Given the description of an element on the screen output the (x, y) to click on. 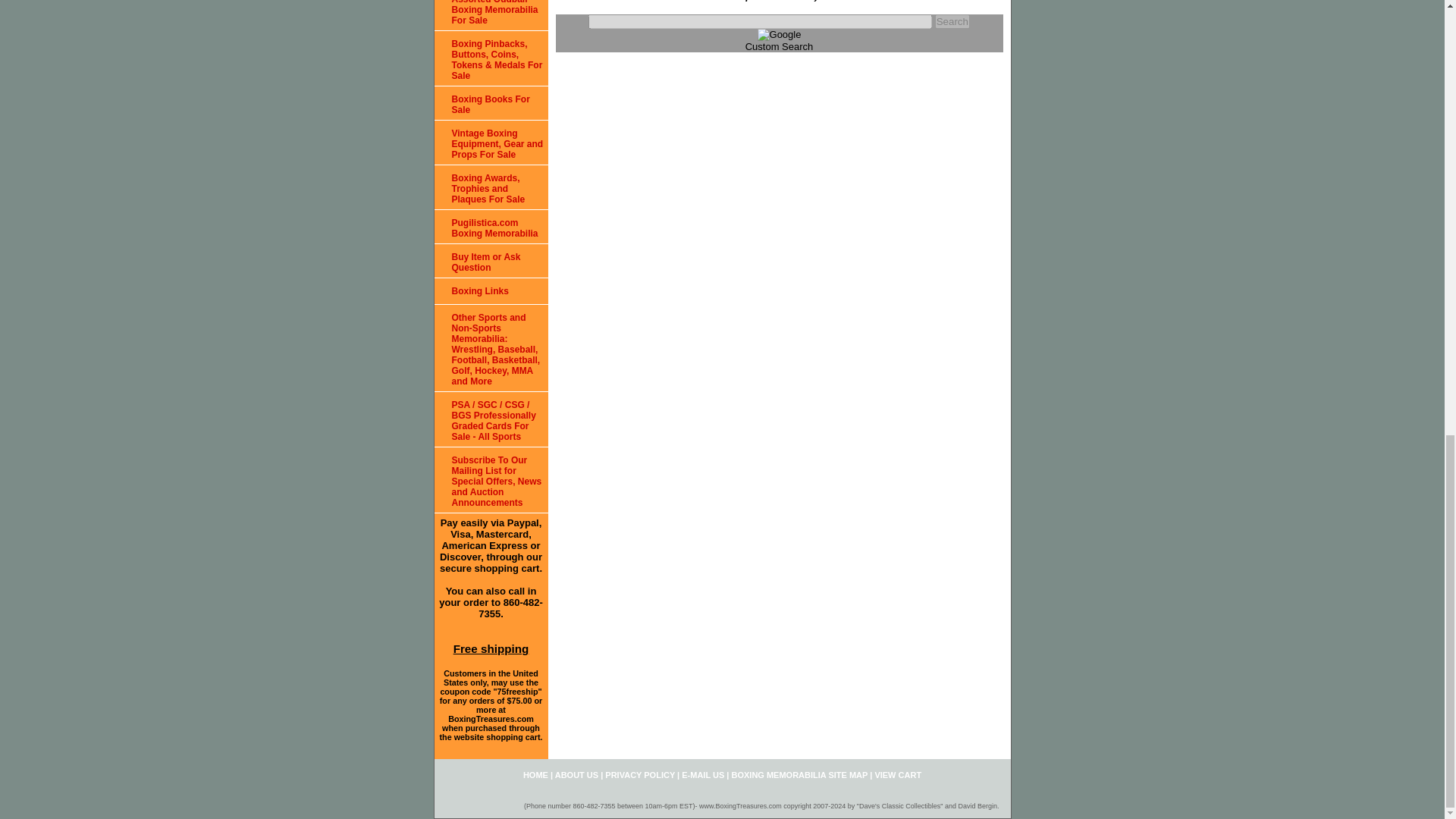
Search (951, 21)
Buy Item or Ask Question (490, 261)
Boxing Books For Sale (490, 103)
Boxing Links (490, 291)
Vintage Boxing Equipment, Gear and Props For Sale (490, 142)
Search (951, 21)
Assorted Oddball Boxing Memorabilia For Sale (490, 15)
Boxing Awards, Trophies and Plaques For Sale (490, 187)
Pugilistica.com Boxing Memorabilia (490, 226)
